Given the description of an element on the screen output the (x, y) to click on. 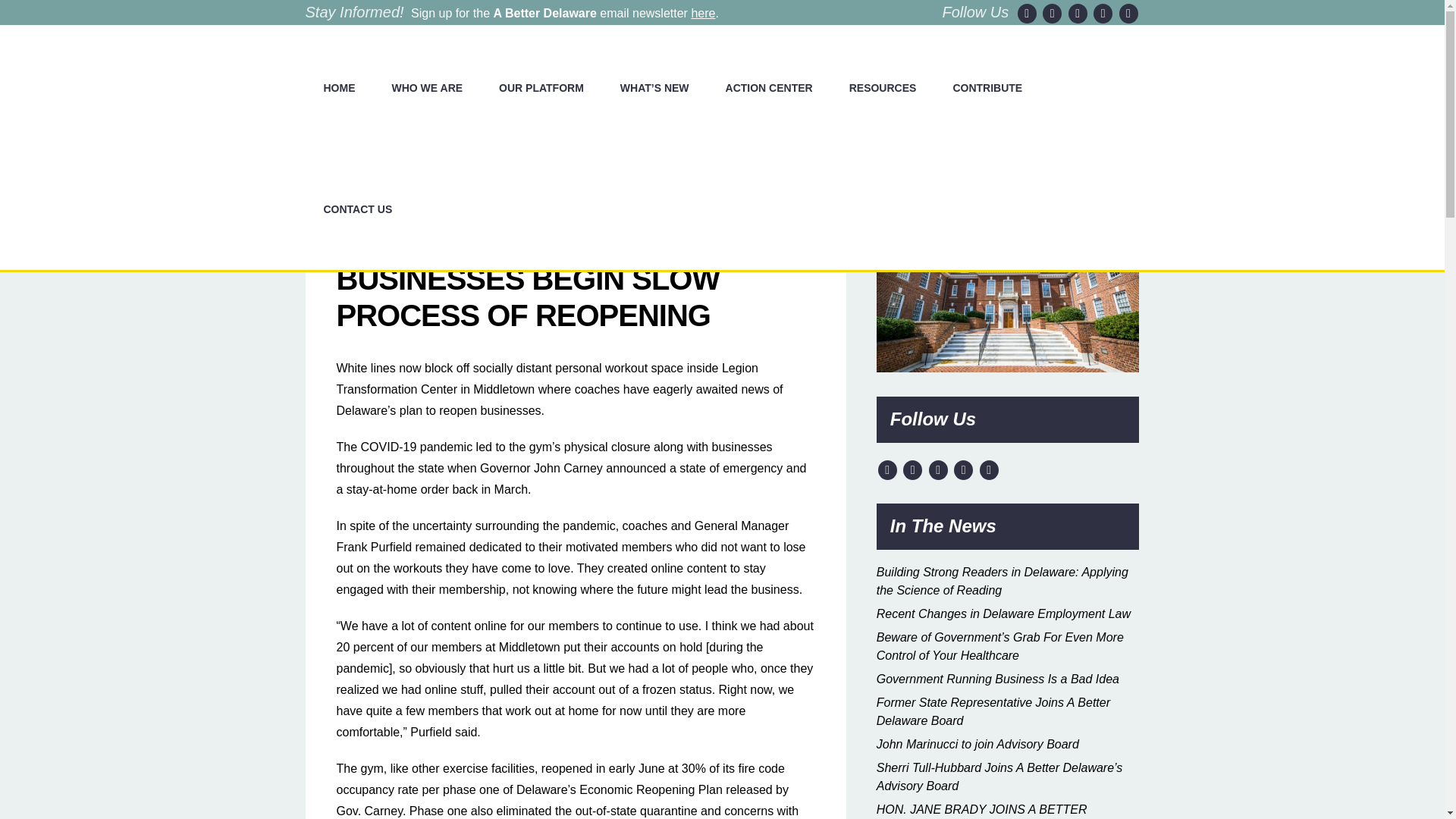
RESOURCES (882, 87)
OUR PLATFORM (541, 87)
CONTRIBUTE (987, 87)
WHO WE ARE (426, 87)
CONTACT US (357, 209)
HOME (338, 87)
here (702, 12)
ACTION CENTER (769, 87)
